Given the description of an element on the screen output the (x, y) to click on. 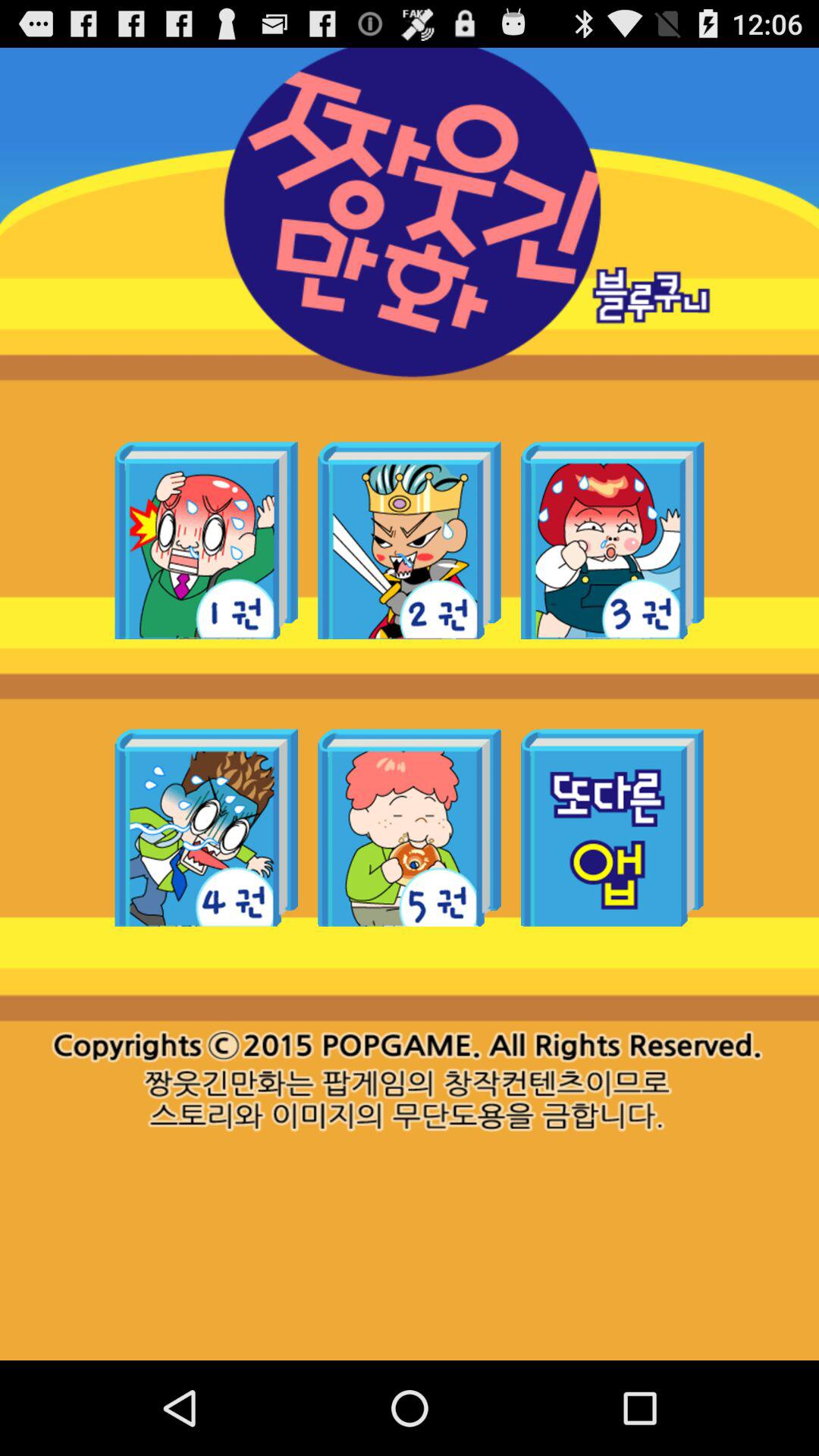
book option (206, 540)
